Given the description of an element on the screen output the (x, y) to click on. 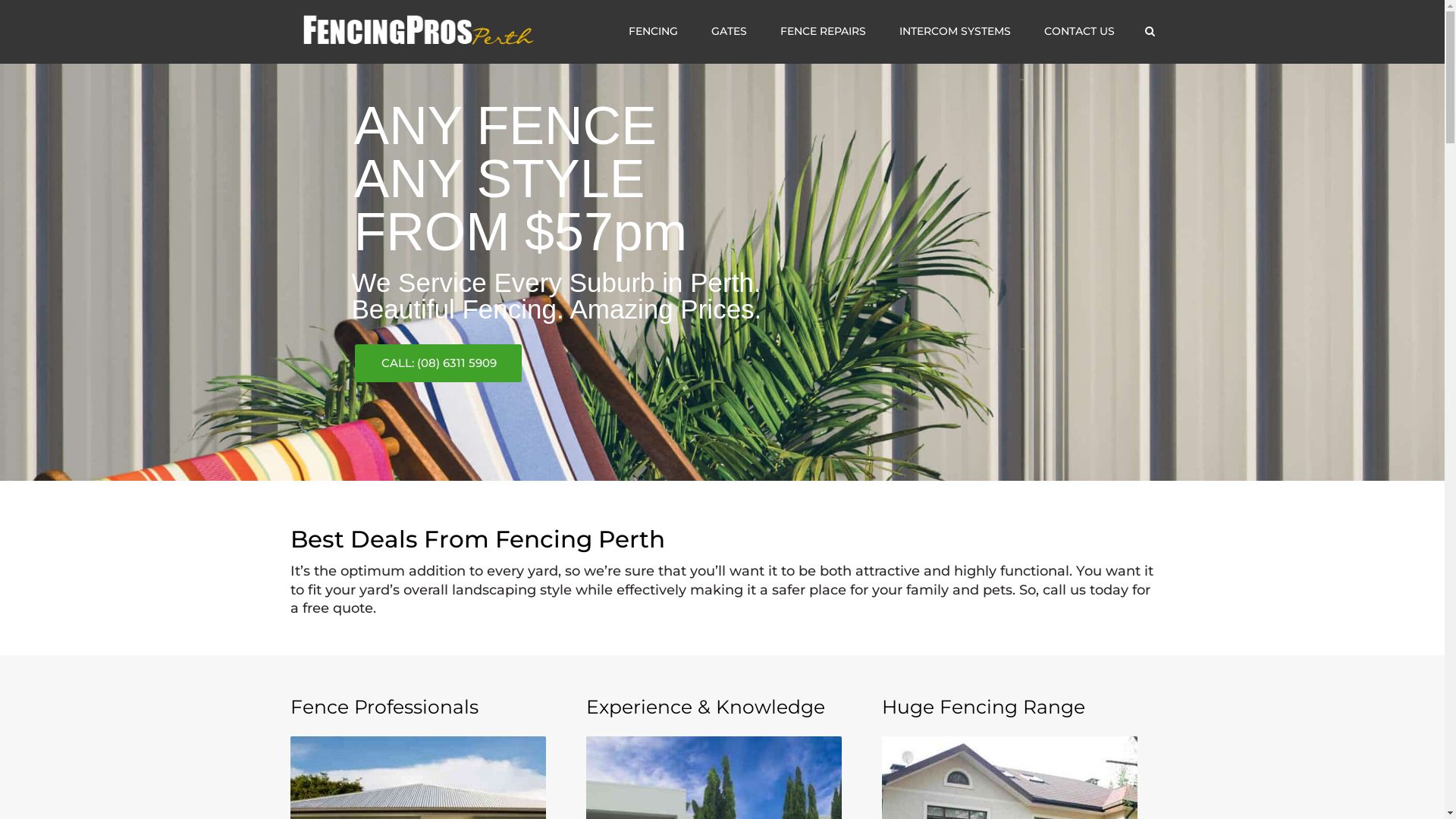
CONTACT US Element type: text (1078, 31)
FENCE REPAIRS Element type: text (821, 31)
CALL: (08) 6311 5909 Element type: text (437, 363)
FENCING Element type: text (652, 31)
Search Element type: text (1149, 30)
GATES Element type: text (728, 31)
INTERCOM SYSTEMS Element type: text (954, 31)
